Given the description of an element on the screen output the (x, y) to click on. 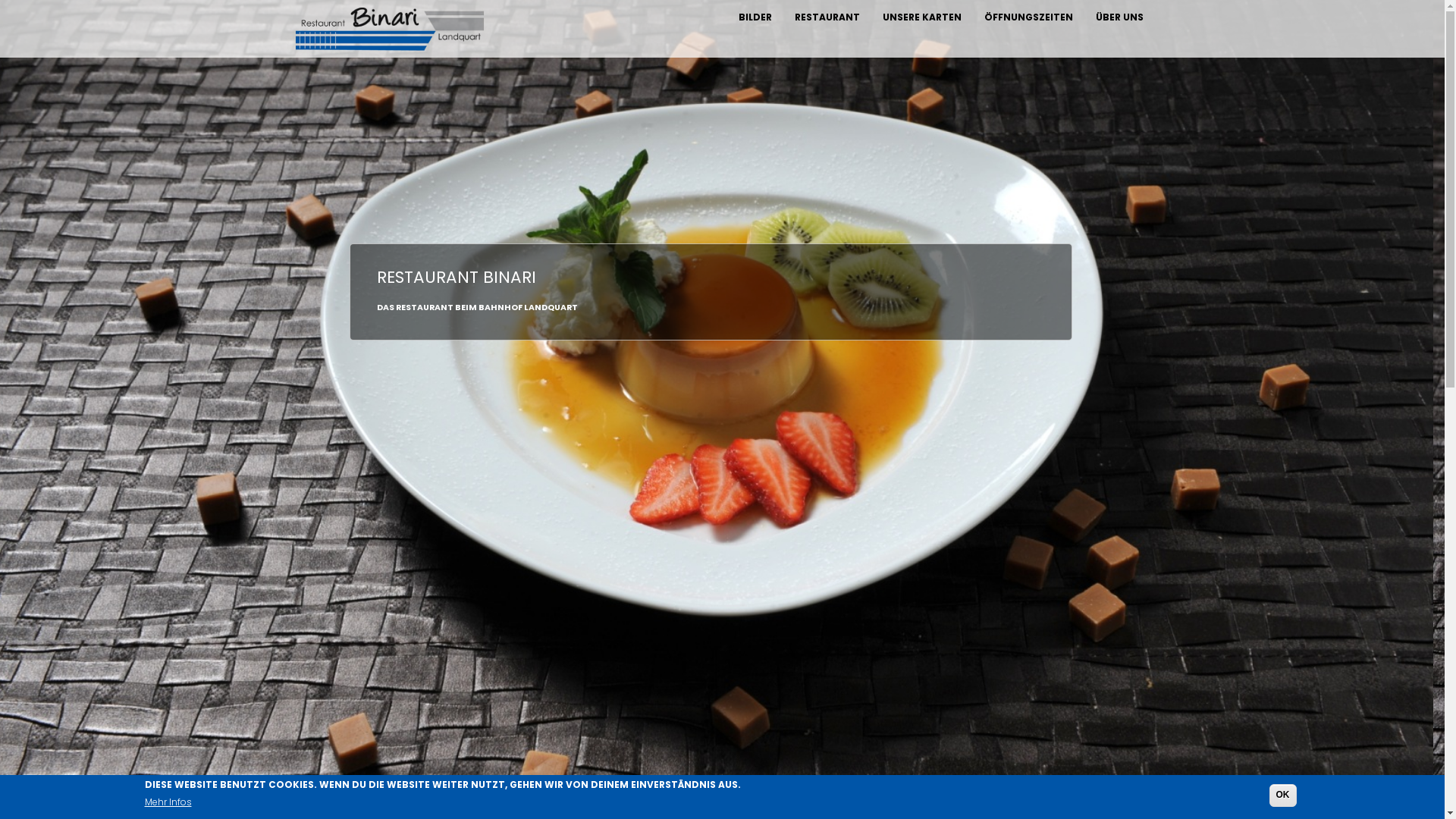
Direkt zum Inhalt Element type: text (0, 0)
Kontakt Element type: text (1132, 809)
Mehr Infos Element type: text (167, 801)
Startseite Element type: hover (389, 28)
2 Element type: text (721, 800)
RESTAURANT Element type: text (826, 17)
UNSERE KARTEN Element type: text (921, 17)
BILDER Element type: text (754, 17)
OK Element type: text (1282, 795)
1 Element type: text (706, 800)
Impressum Element type: text (318, 809)
RESTAURANT BINARI
DAS RESTAURANT BEIM BAHNHOF LANDQUART Element type: text (477, 291)
3 Element type: text (737, 800)
